Given the description of an element on the screen output the (x, y) to click on. 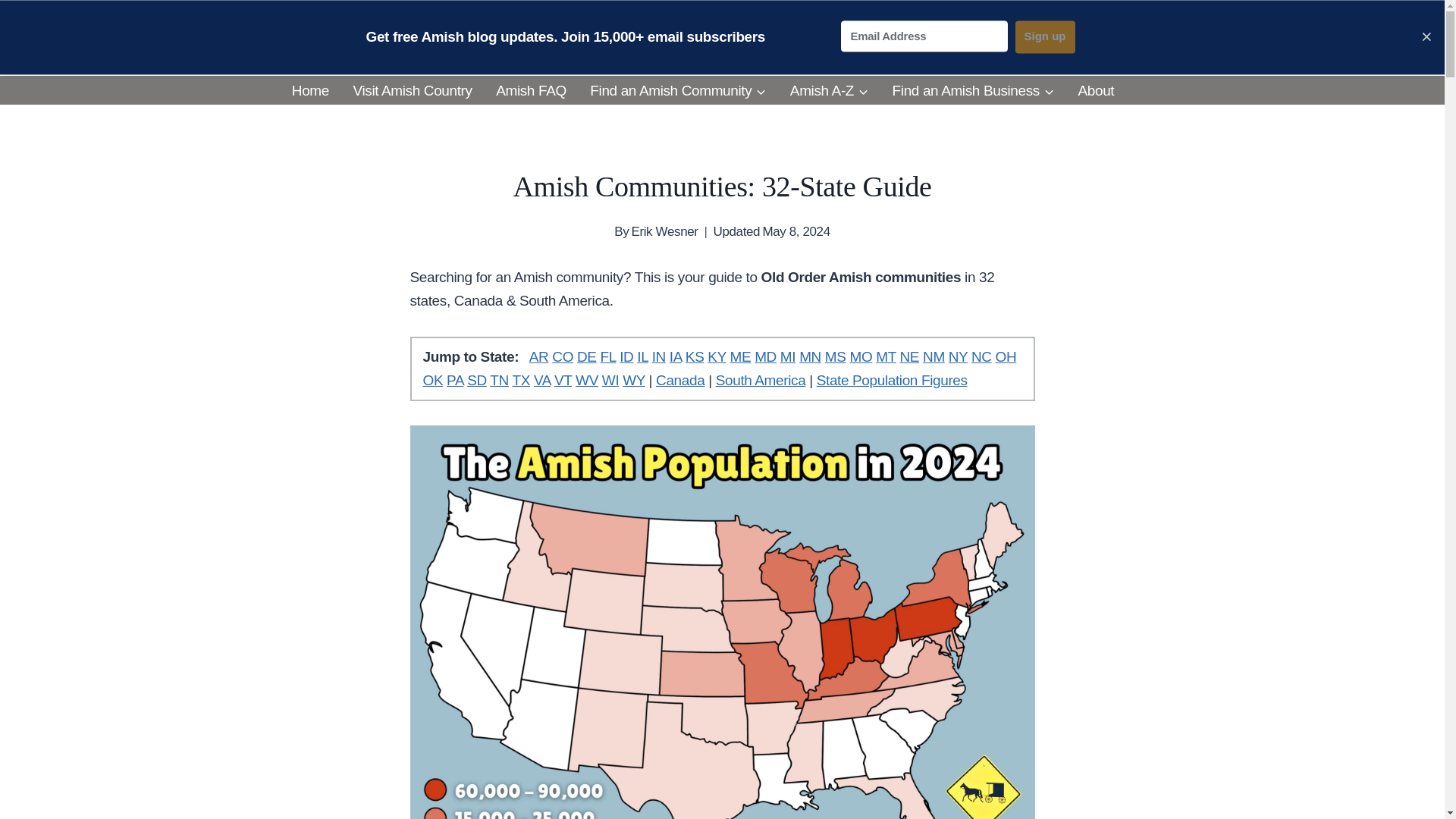
Home (309, 90)
A-Z Guide to Amish Topics (828, 90)
Erik Wesner (663, 231)
KS (694, 356)
Find an Amish Community (678, 90)
Visit Amish Country (412, 90)
About (1095, 90)
Homepage (309, 90)
KY (716, 356)
CO (562, 356)
